Given the description of an element on the screen output the (x, y) to click on. 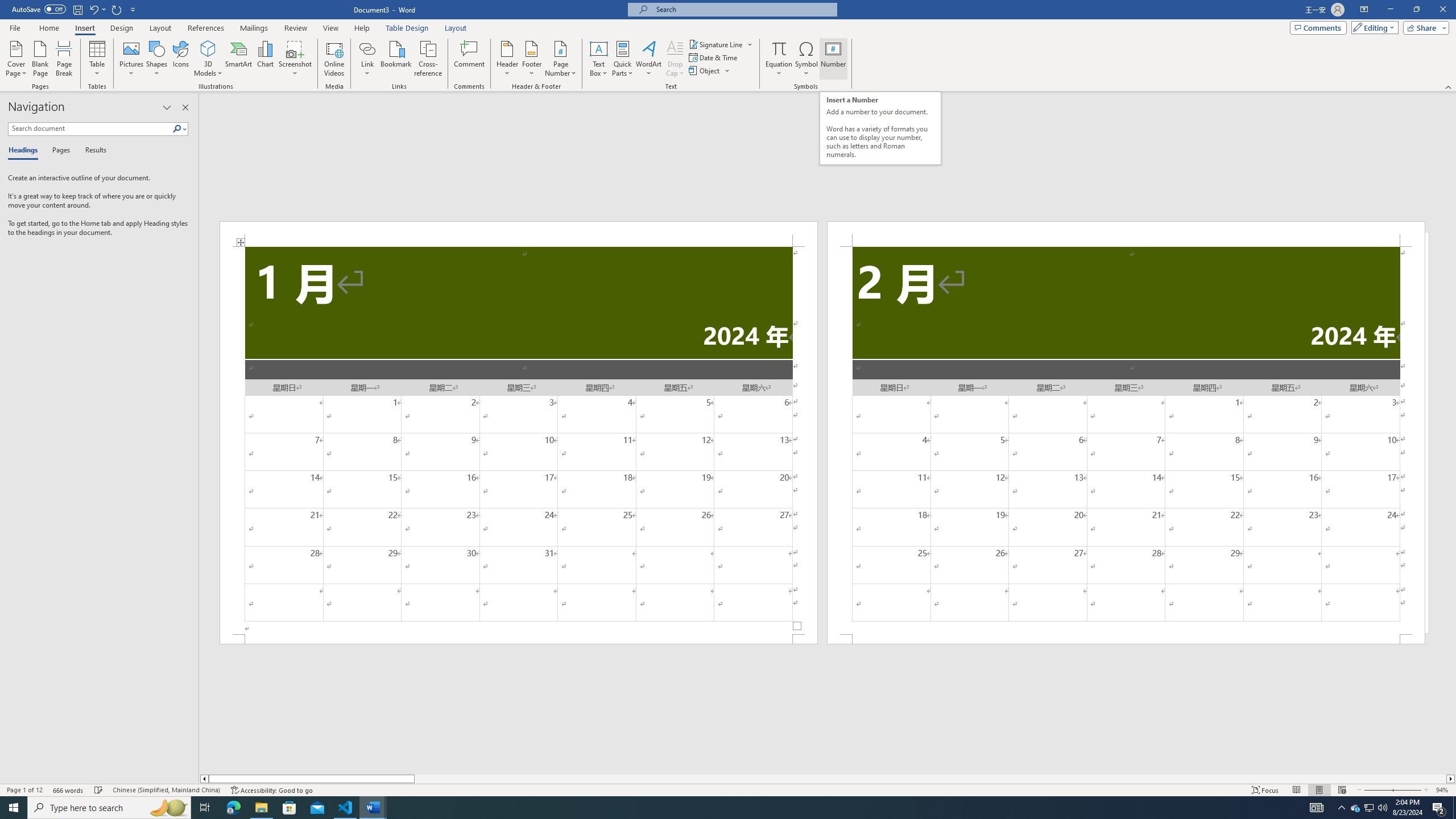
Page Number Page 1 of 12 (24, 790)
Footer -Section 2- (1126, 638)
Undo Increase Indent (96, 9)
Cover Page (16, 58)
Blank Page (40, 58)
Object... (705, 69)
